Given the description of an element on the screen output the (x, y) to click on. 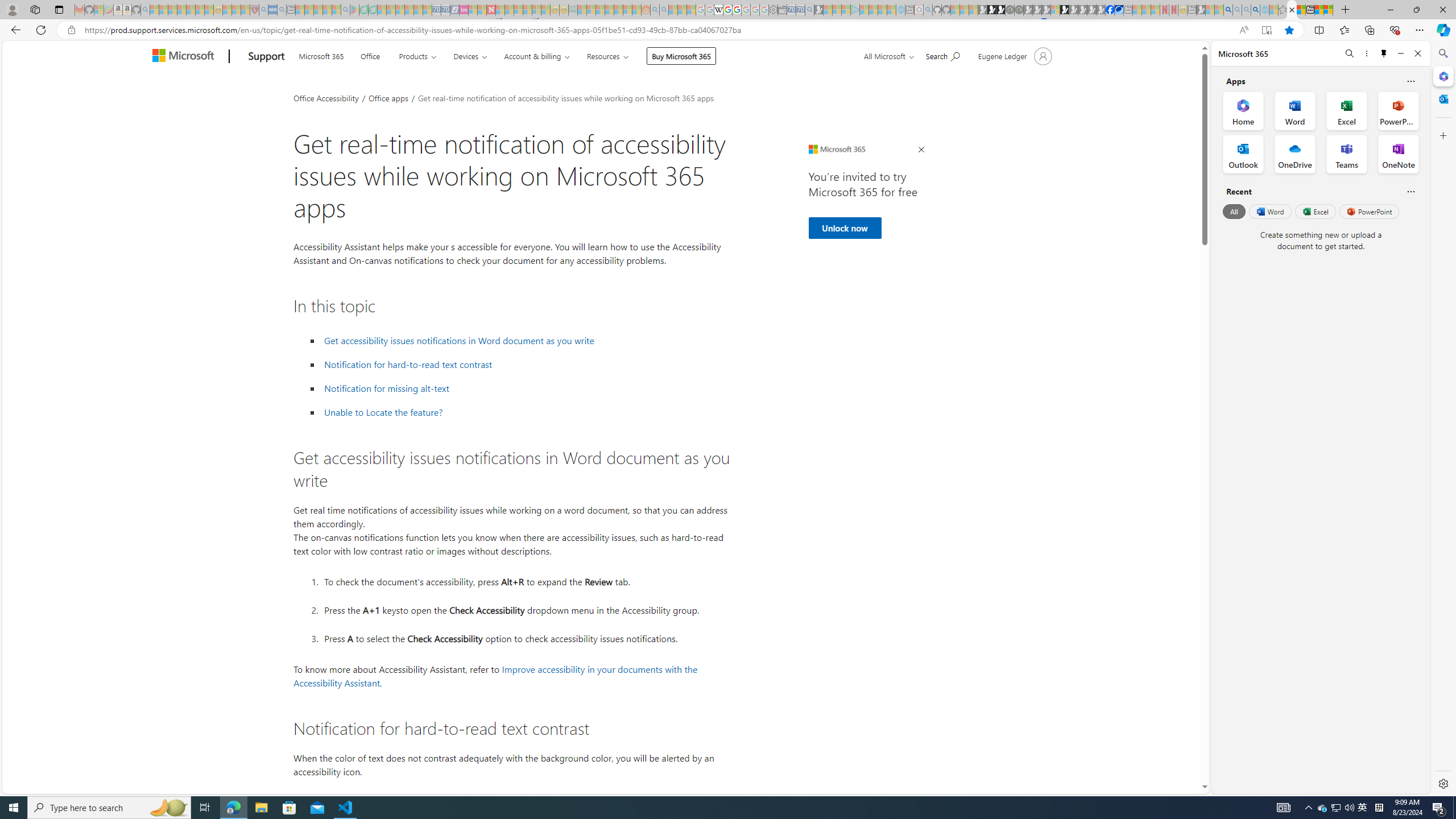
Office (370, 54)
Notification for missing alt-text (525, 388)
Target page - Wikipedia (718, 9)
OneDrive Office App (1295, 154)
